Given the description of an element on the screen output the (x, y) to click on. 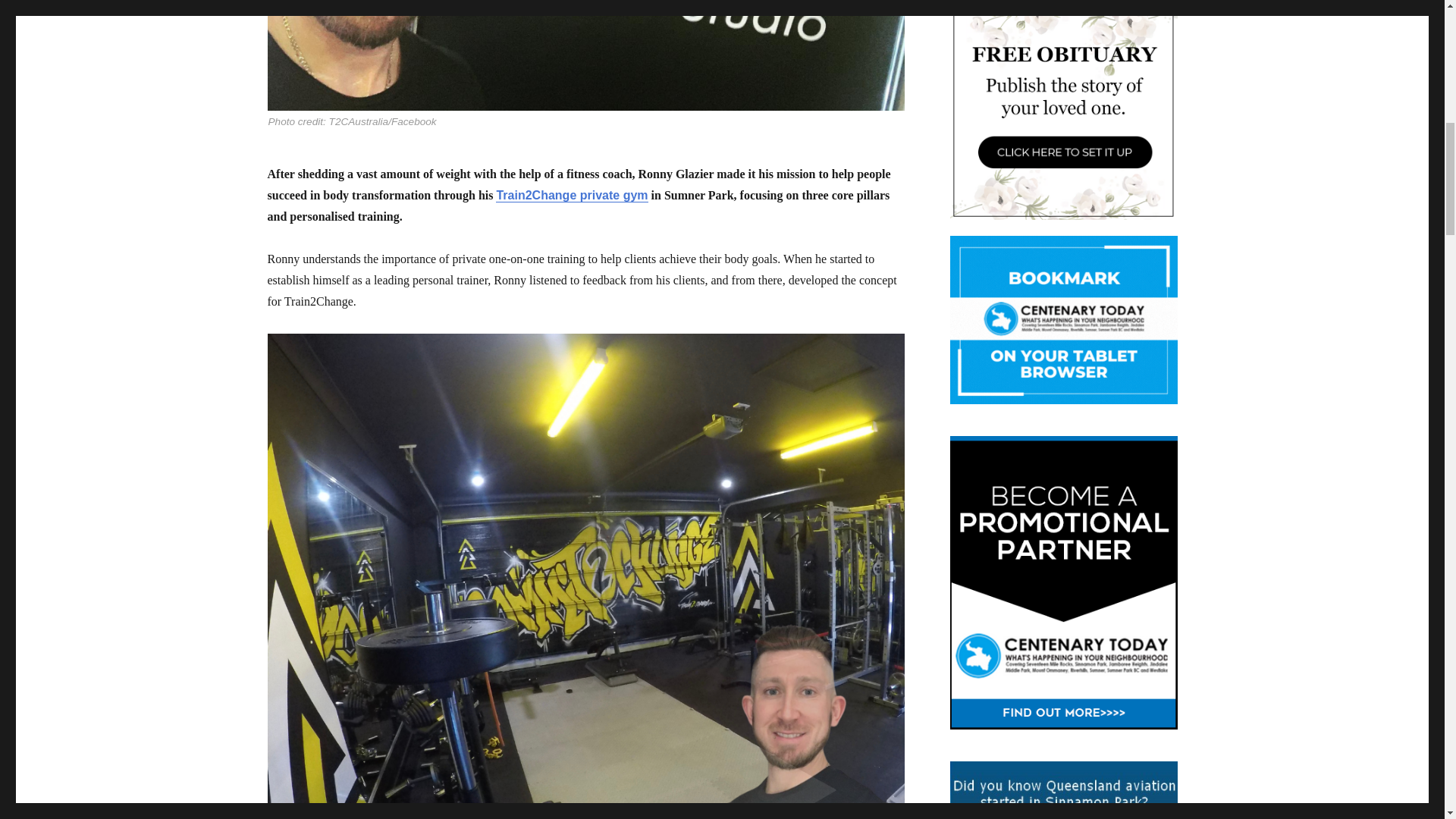
Train2Change private gym (571, 195)
